Given the description of an element on the screen output the (x, y) to click on. 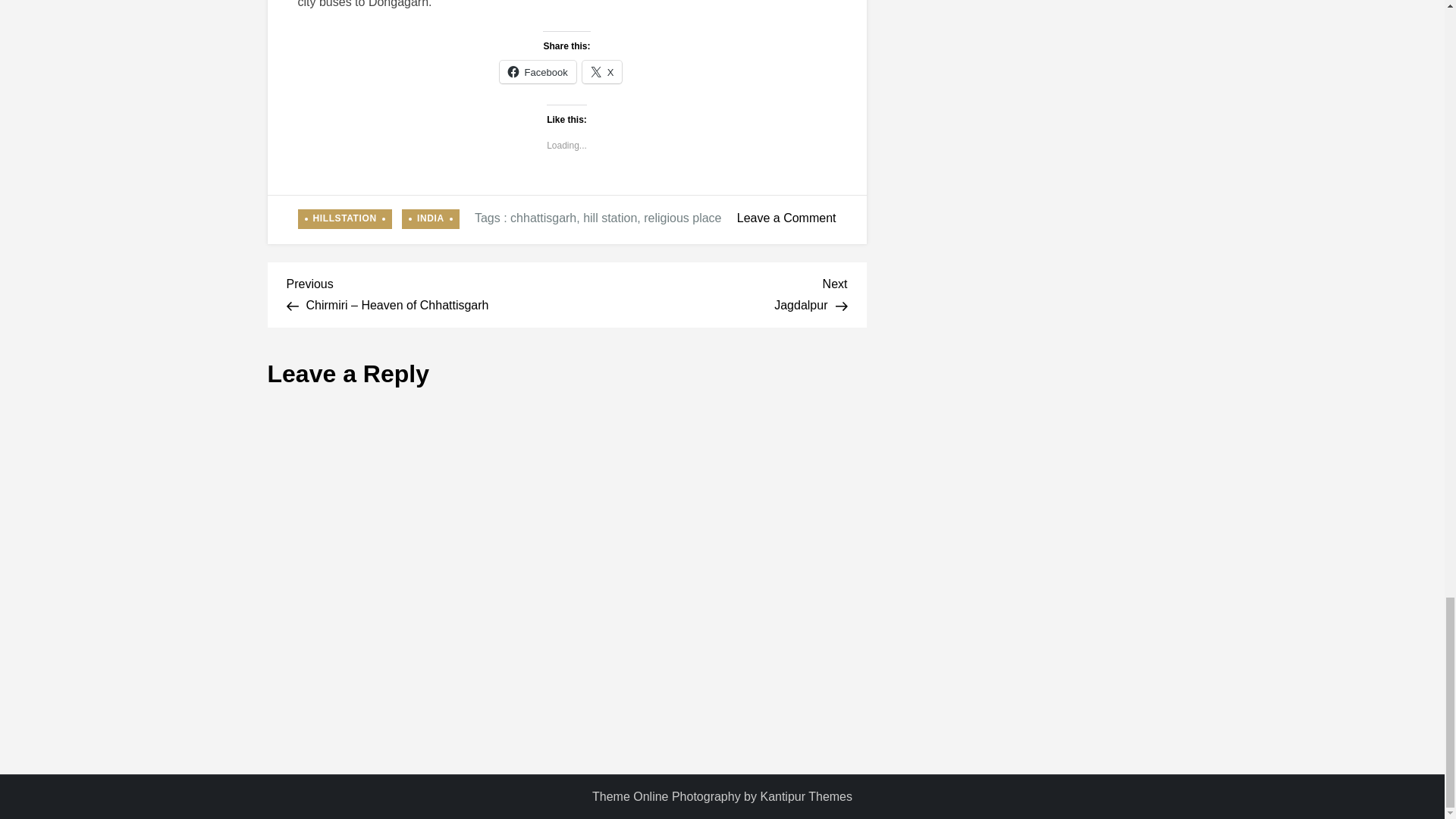
HILLSTATION (344, 219)
Click to share on Facebook (537, 71)
religious place (681, 217)
INDIA (430, 219)
Click to share on X (602, 71)
hill station (610, 217)
Kantipur Themes (805, 796)
chhattisgarh (543, 217)
Facebook (537, 71)
X (602, 71)
